Given the description of an element on the screen output the (x, y) to click on. 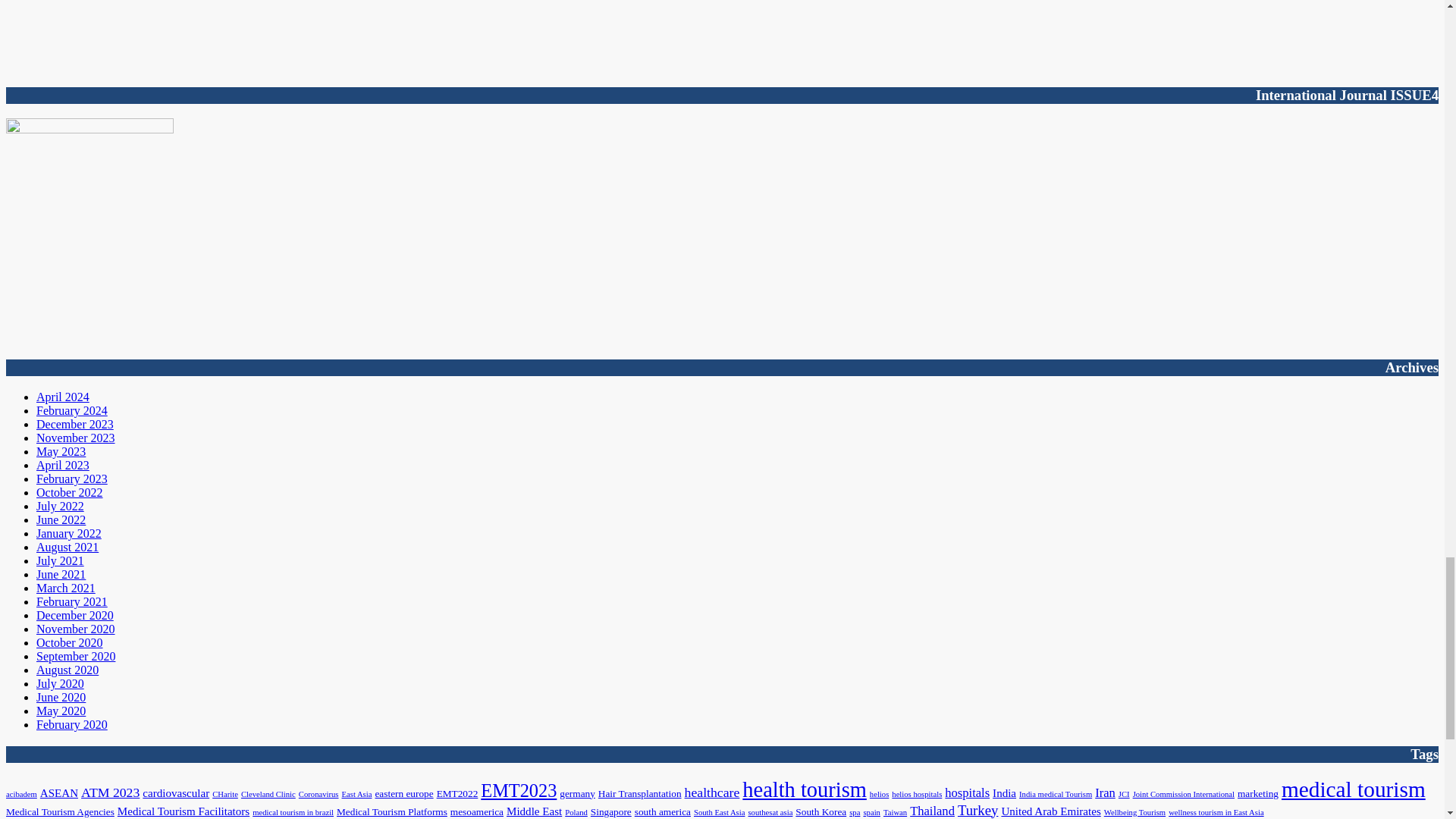
December 2023 (74, 423)
April 2024 (62, 396)
February 2024 (71, 410)
